Given the description of an element on the screen output the (x, y) to click on. 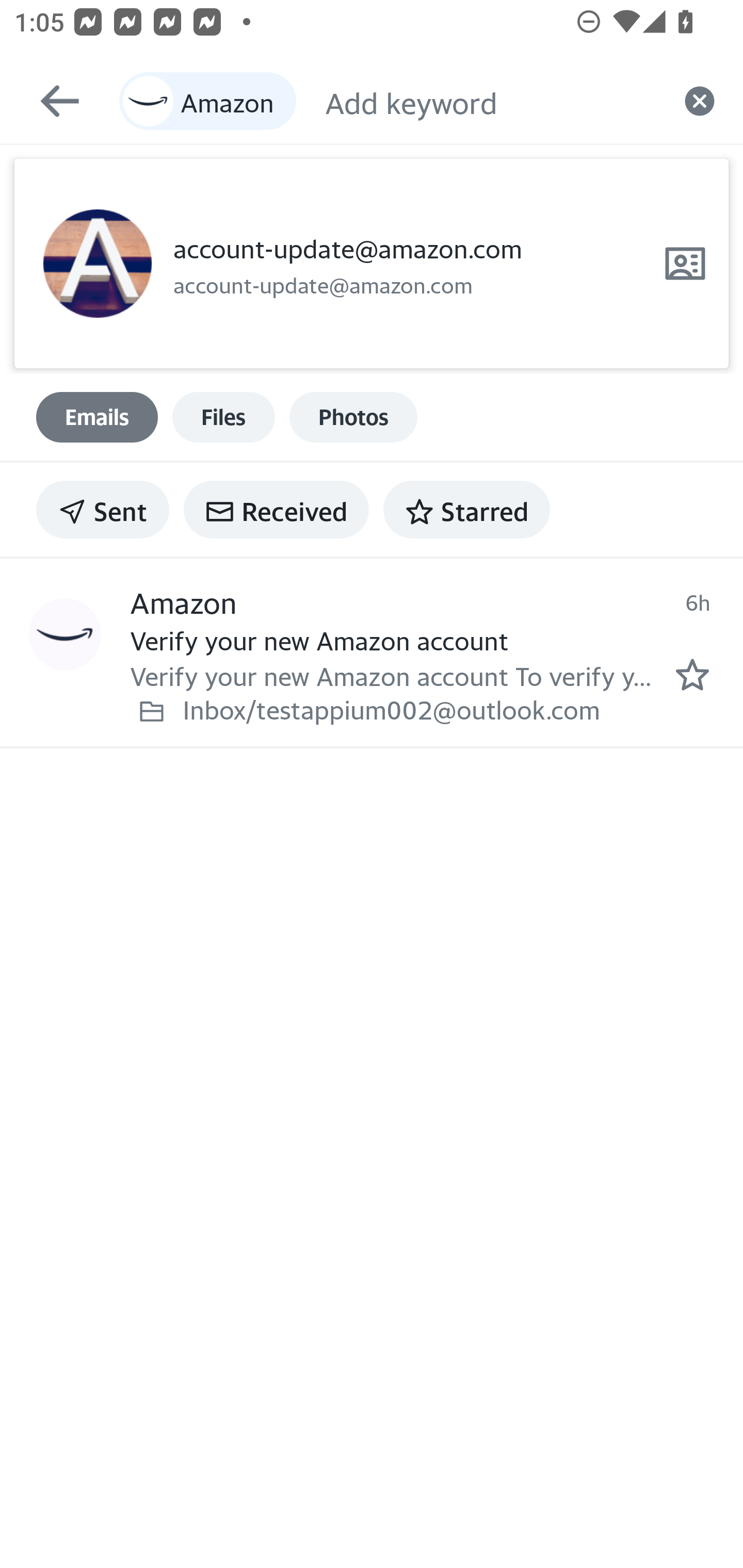
Back (50, 101)
Add keyword (490, 101)
Clear (699, 101)
Profile (97, 264)
Emails (96, 417)
Files (223, 417)
Photos (353, 417)
Sent (102, 509)
Received (276, 509)
Starred (466, 509)
Profile
Amazon (64, 634)
Mark as starred. (692, 674)
